Given the description of an element on the screen output the (x, y) to click on. 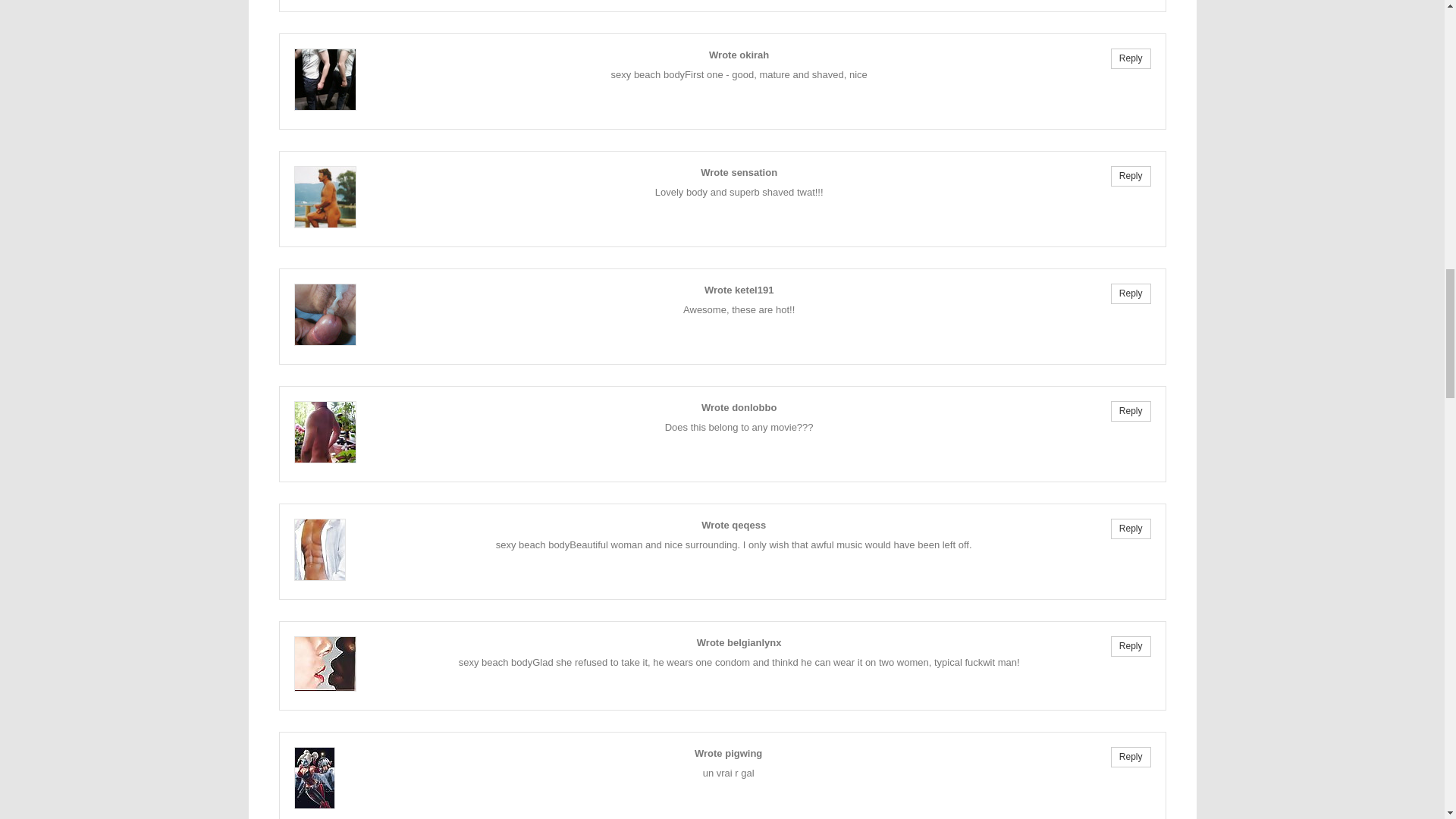
Reply (1130, 646)
Reply (1130, 176)
Reply (1130, 293)
Reply (1130, 528)
Reply (1130, 411)
Reply (1130, 58)
